Given the description of an element on the screen output the (x, y) to click on. 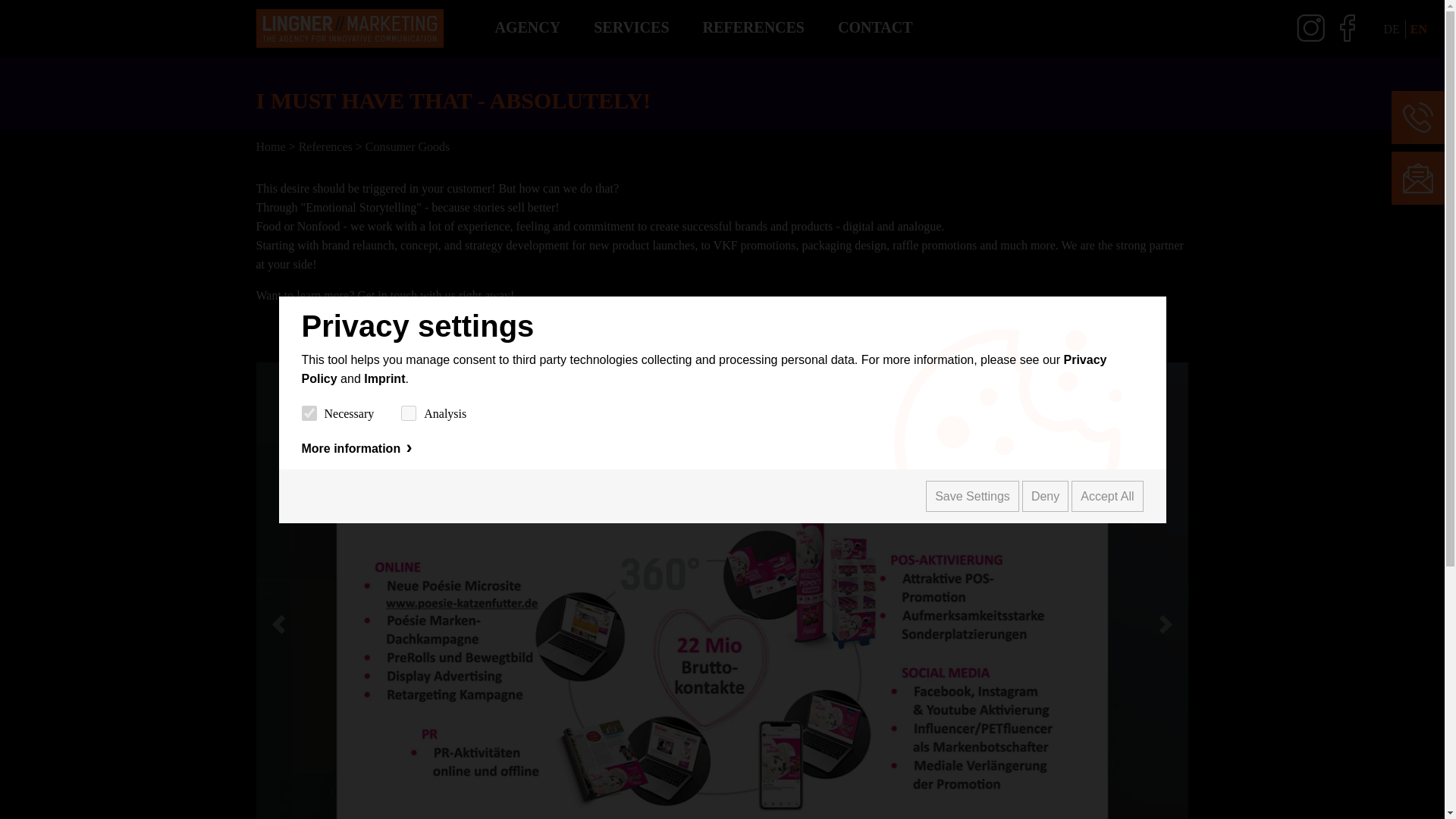
on (309, 412)
on (408, 412)
Save Settings (972, 495)
DE (1391, 28)
Deny (1045, 495)
EN (1418, 28)
Accept All (1106, 495)
